Given the description of an element on the screen output the (x, y) to click on. 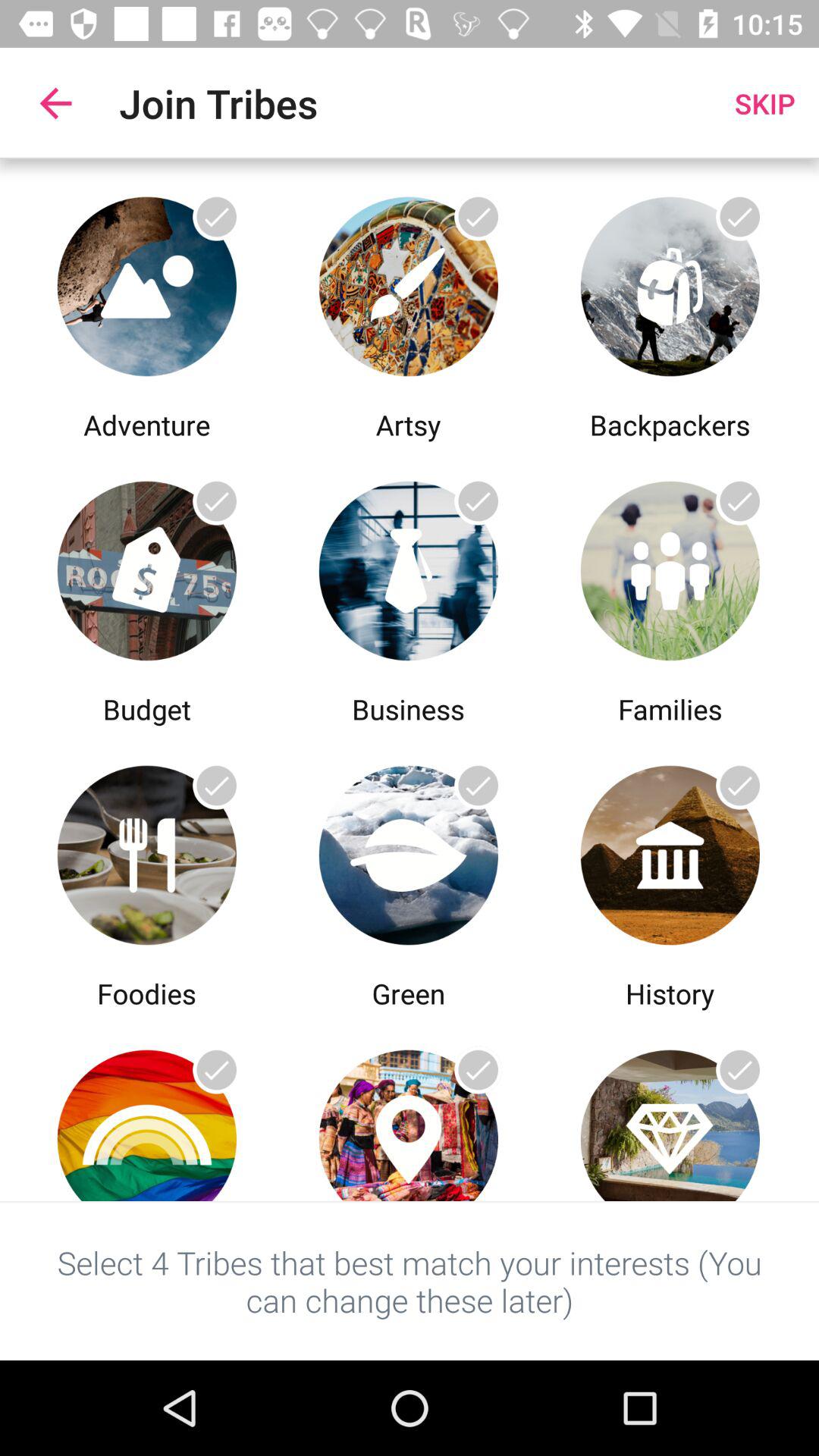
join family tribe (669, 566)
